Given the description of an element on the screen output the (x, y) to click on. 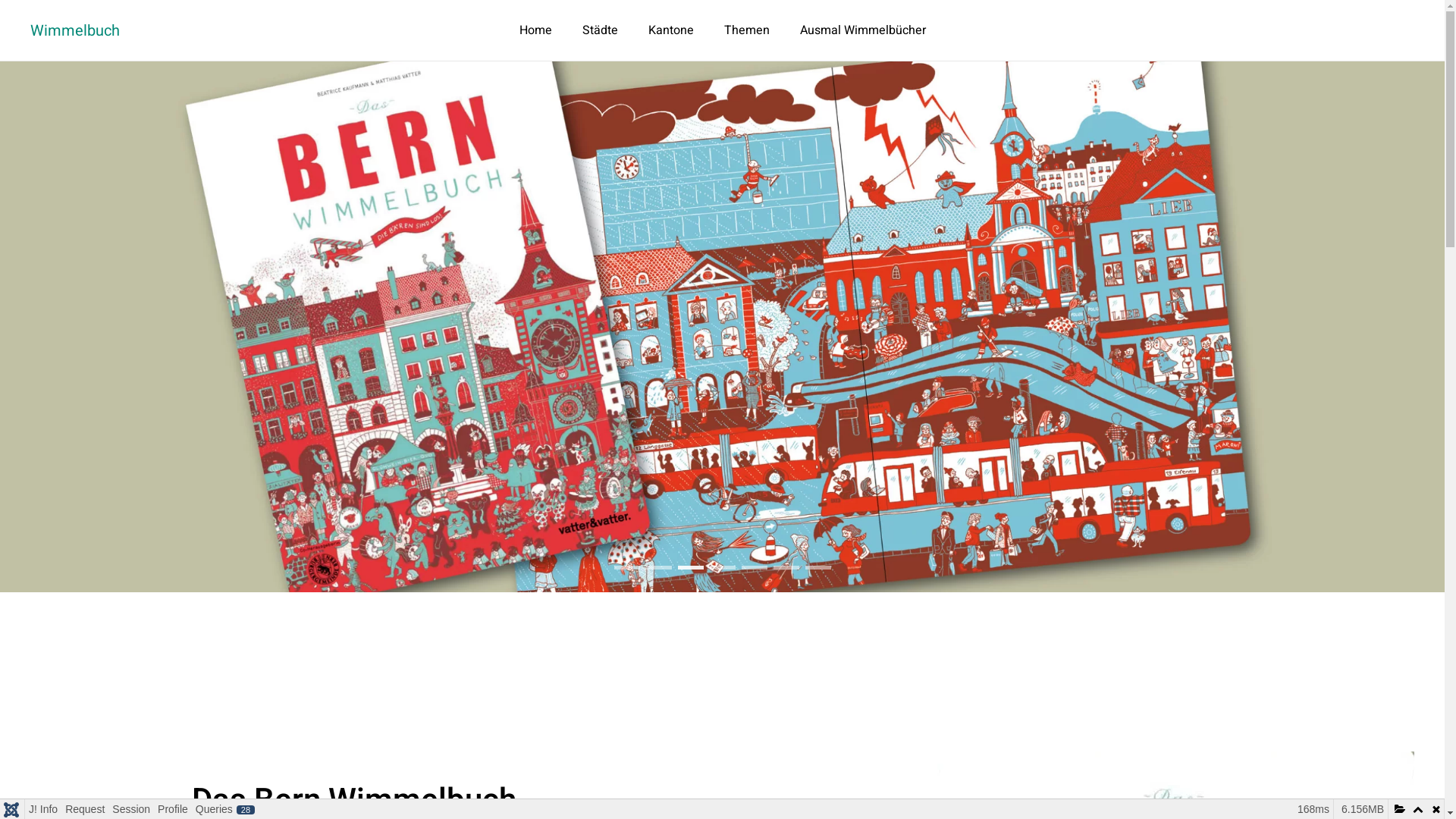
Themen Element type: text (745, 30)
Home Element type: text (534, 30)
Kantone Element type: text (670, 30)
Wimmelbuch Element type: text (74, 30)
